Given the description of an element on the screen output the (x, y) to click on. 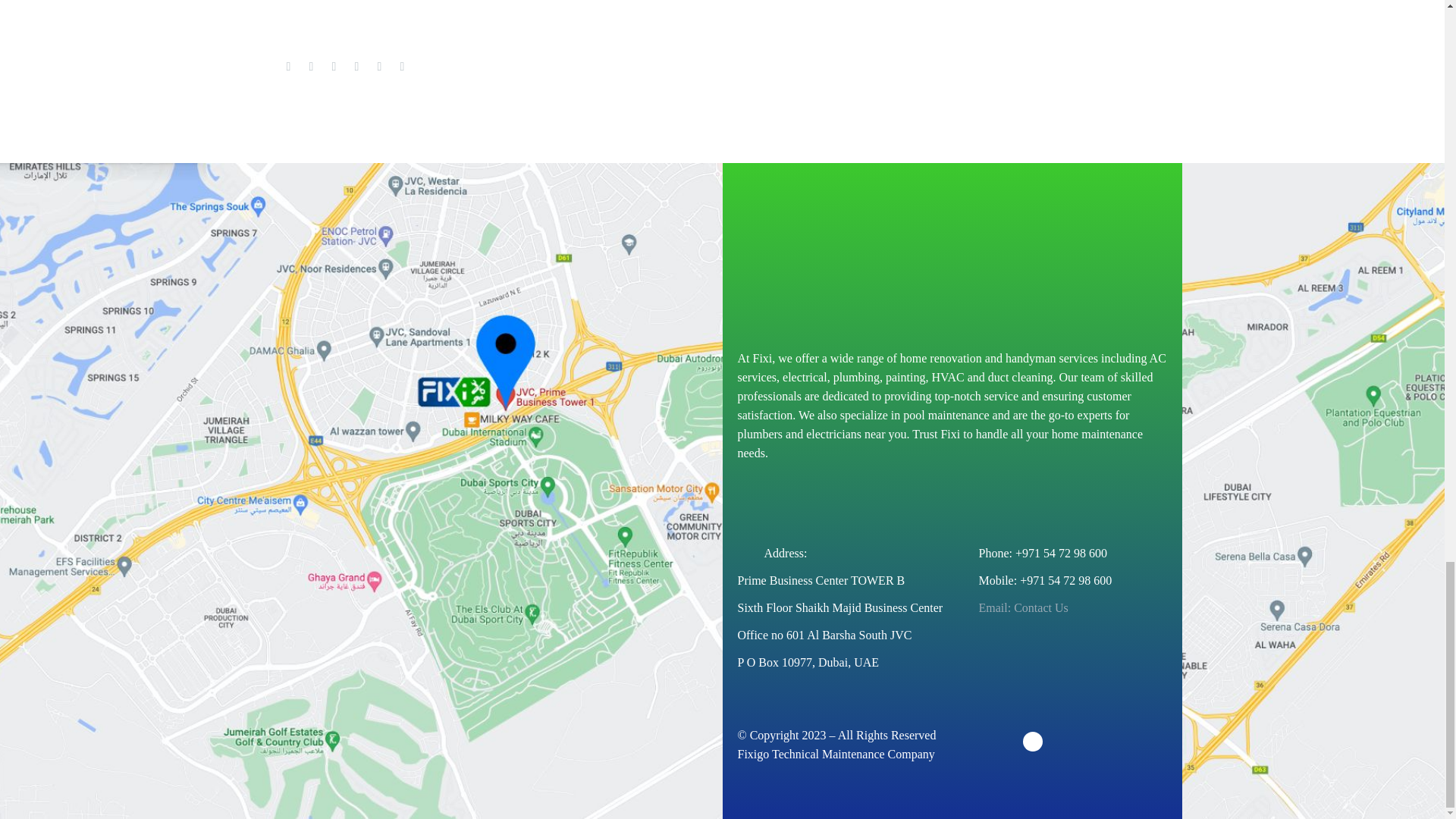
Facebook (288, 66)
LinkedIn (378, 66)
Tumblr (356, 66)
Reddit (401, 66)
Twitter (310, 66)
Pinterest (333, 66)
